Given the description of an element on the screen output the (x, y) to click on. 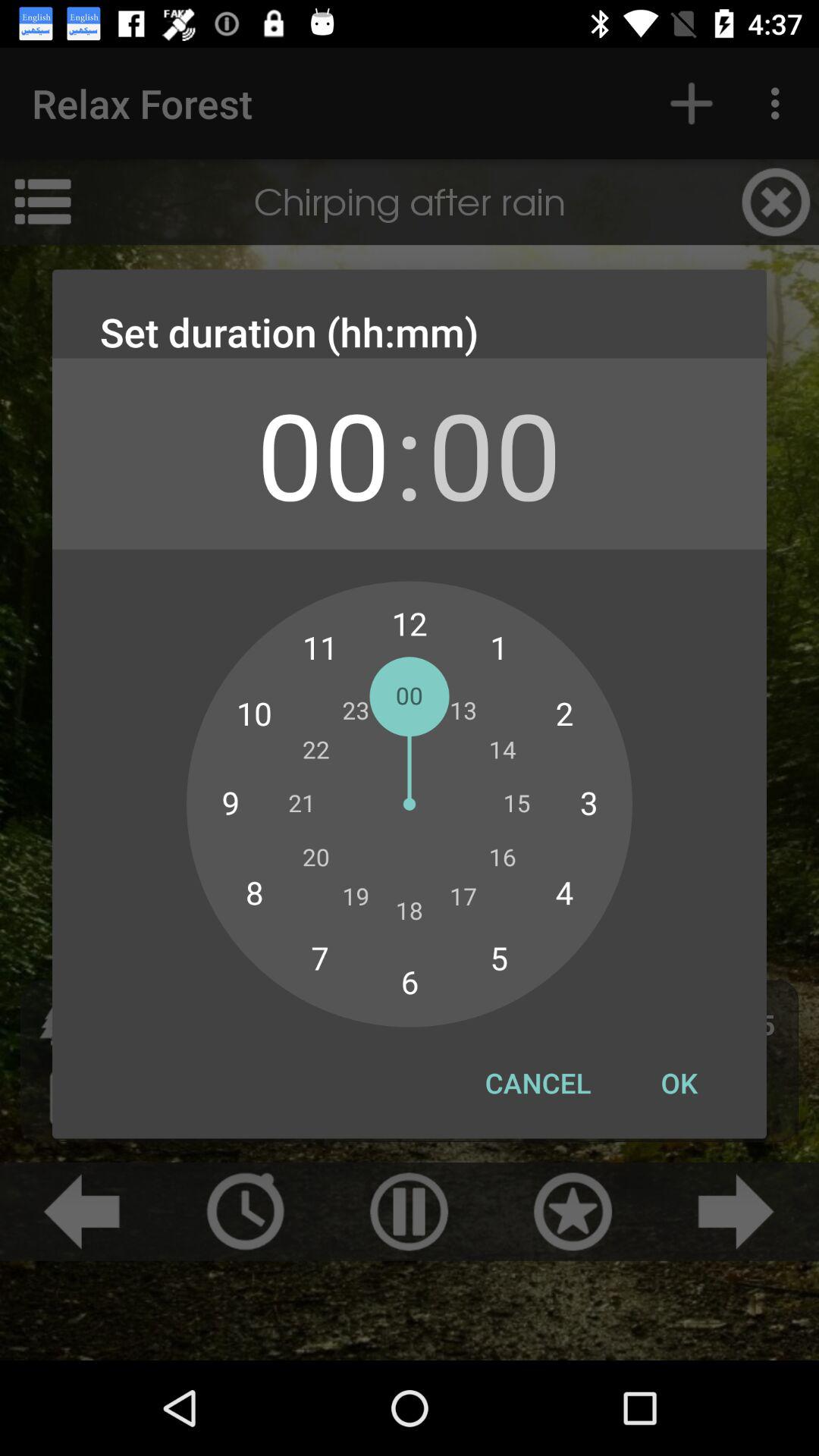
select the ok (678, 1082)
